Given the description of an element on the screen output the (x, y) to click on. 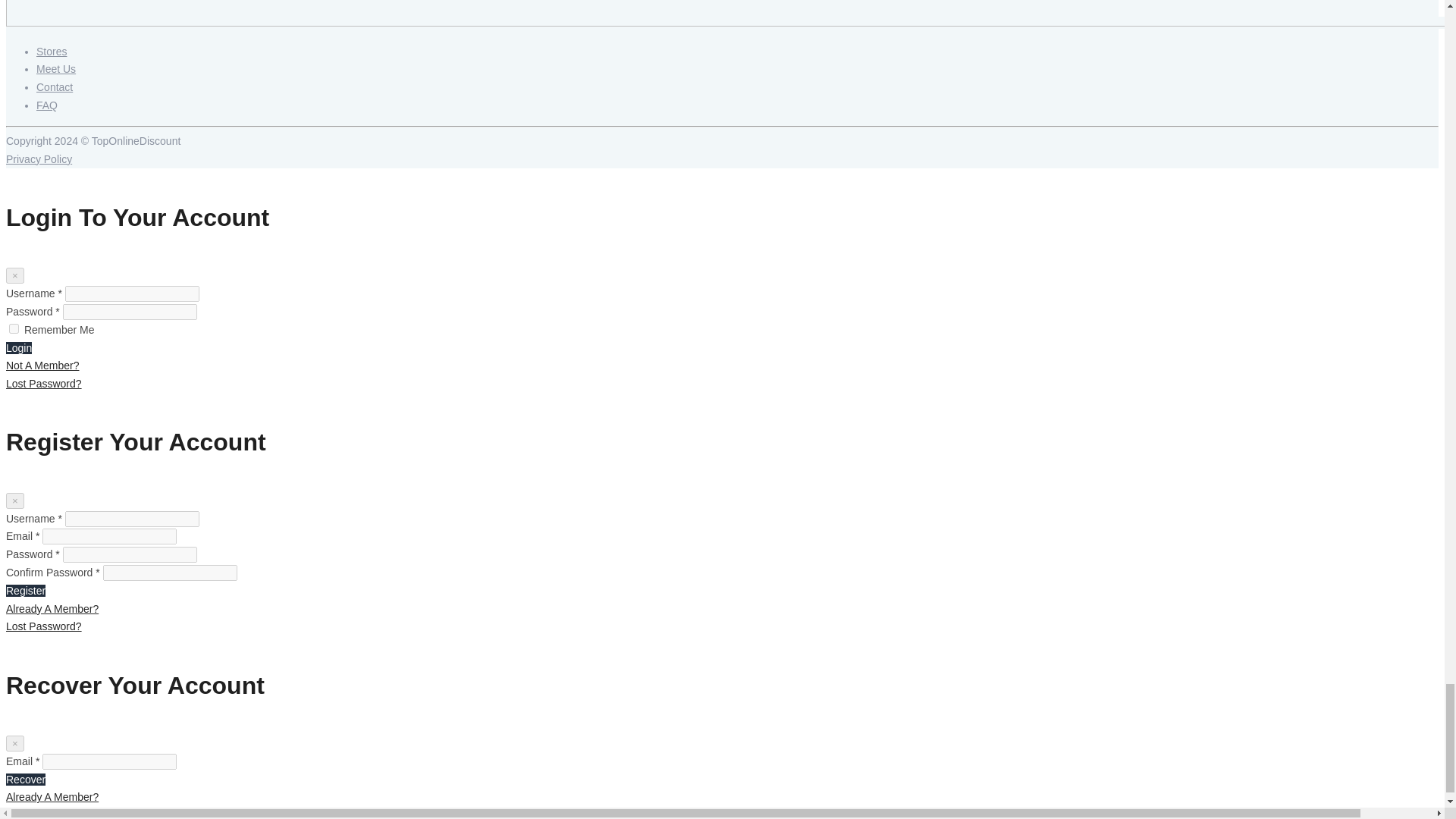
Stores (51, 51)
Contact (54, 87)
Privacy Policy (38, 159)
Meet Us (55, 69)
on (13, 328)
FAQ (47, 105)
Contact (54, 87)
Stores (51, 51)
Meet Us (55, 69)
FAQ (47, 105)
